Given the description of an element on the screen output the (x, y) to click on. 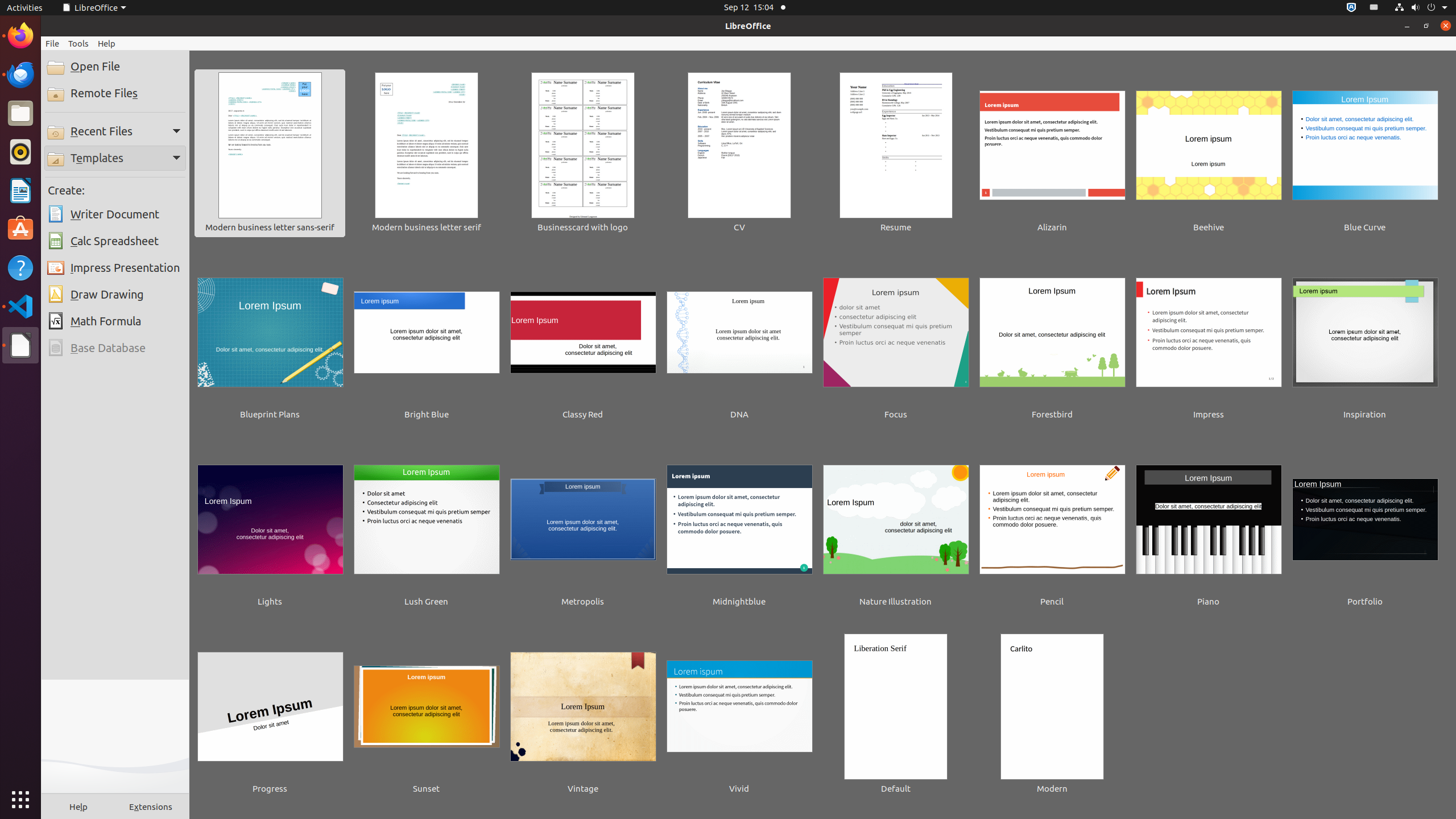
Metropolis Element type: list-item (582, 527)
Progress Element type: list-item (269, 714)
Draw Drawing Element type: push-button (114, 294)
Math Formula Element type: push-button (114, 320)
Forestbird Element type: list-item (1051, 340)
